Given the description of an element on the screen output the (x, y) to click on. 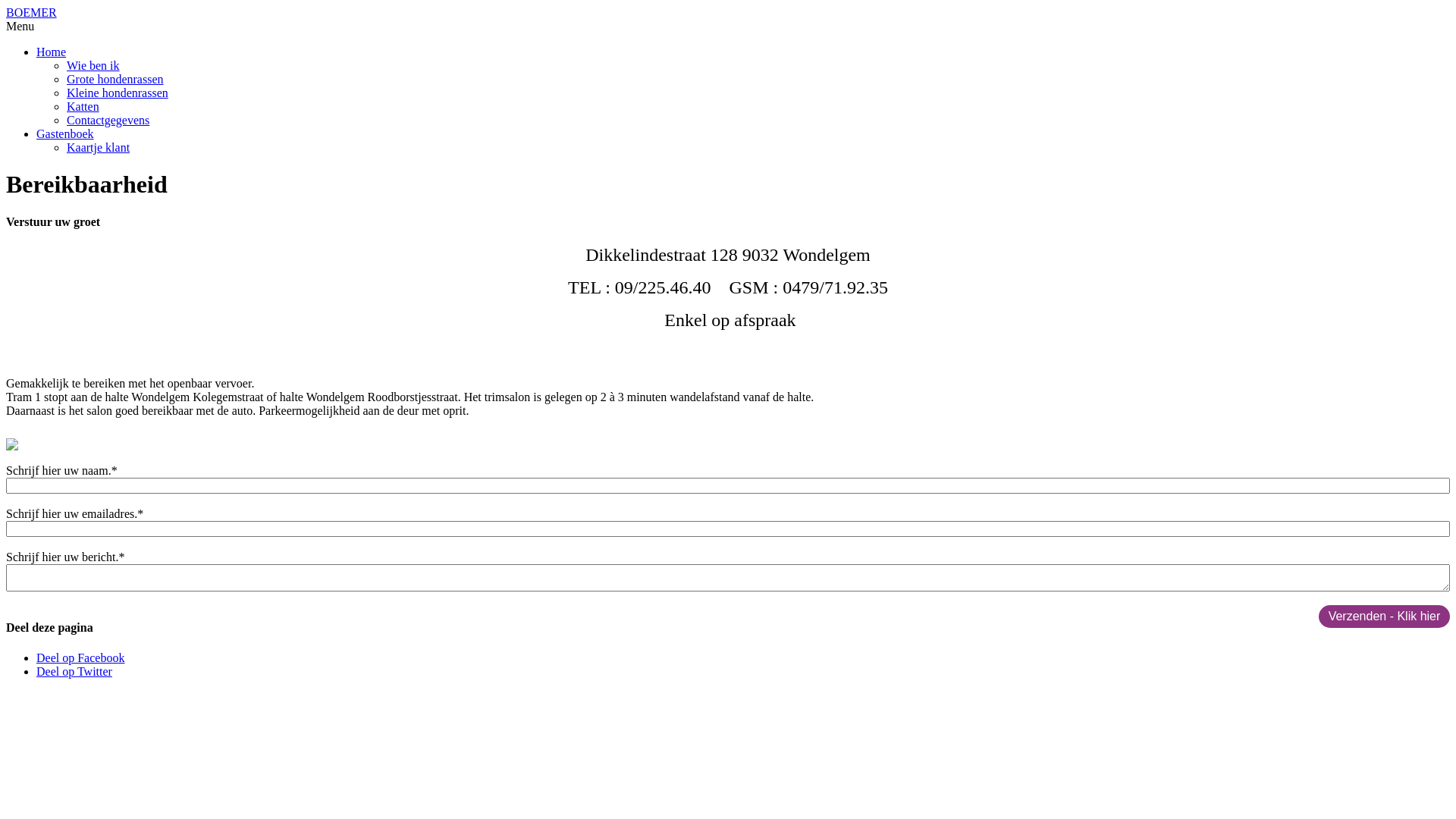
Contactgegevens Element type: text (107, 119)
Gastenboek Element type: text (65, 133)
Deel op Facebook Element type: text (80, 657)
BOEMER Element type: text (31, 12)
Katten Element type: text (82, 106)
Verzenden - Klik hier Element type: text (1383, 616)
Wie ben ik Element type: text (92, 65)
Kaartje klant Element type: text (97, 147)
Grote hondenrassen Element type: text (114, 78)
Kleine hondenrassen Element type: text (117, 92)
Deel op Twitter Element type: text (74, 671)
Home Element type: text (50, 51)
Menu Element type: text (20, 25)
